Given the description of an element on the screen output the (x, y) to click on. 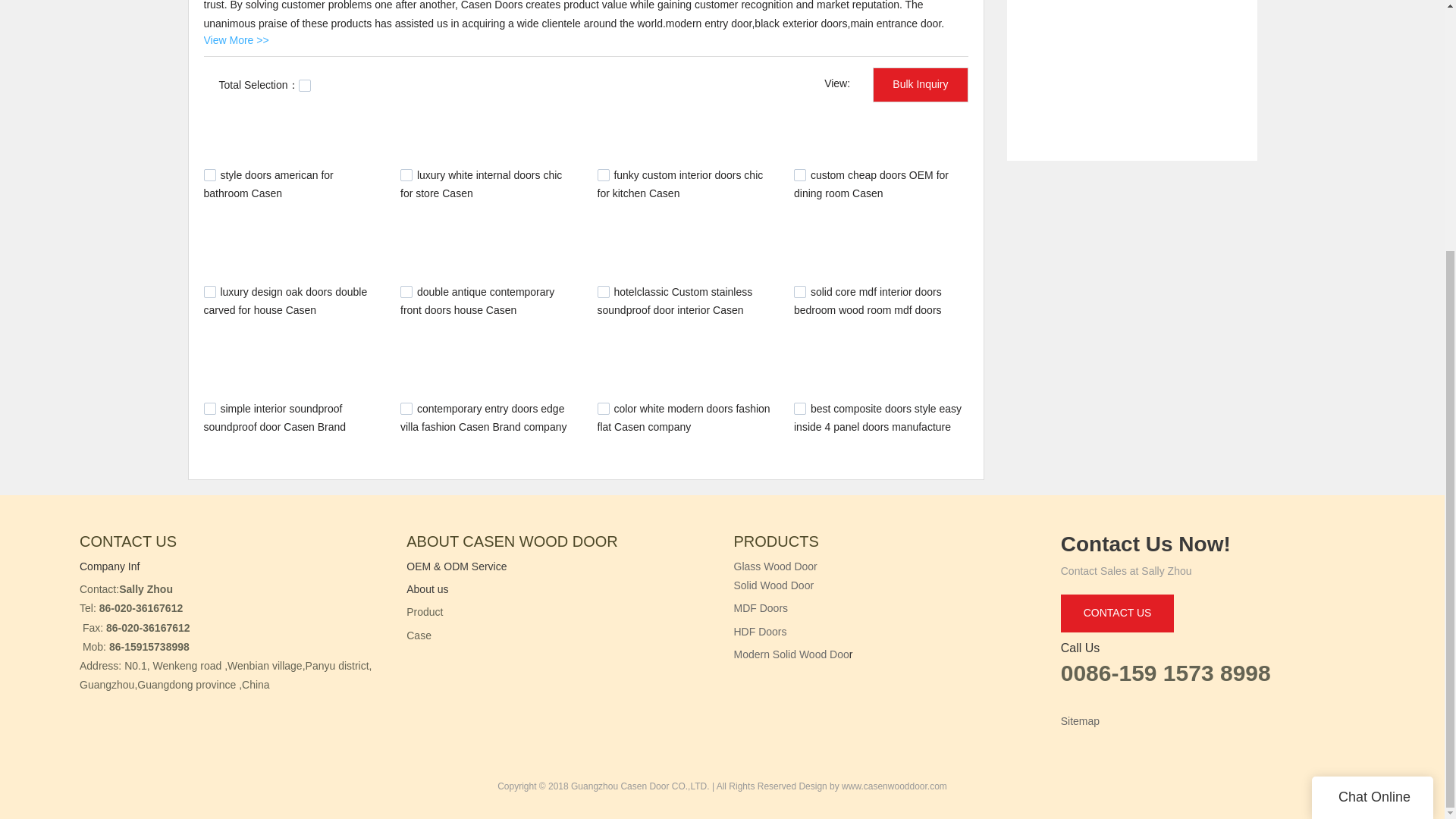
funky custom interior doors chic for kitchen Casen (679, 183)
custom cheap doors OEM for dining room Casen (871, 183)
funky custom interior doors chic for kitchen Casen (679, 183)
766 (209, 408)
luxury design oak doors double carved for house Casen (284, 300)
luxury white internal doors chic for store Casen (481, 183)
898 (603, 291)
double antique contemporary front doors house Casen (477, 300)
luxury white internal doors chic for store Casen (481, 183)
836 (799, 291)
1207 (603, 174)
1249 (209, 174)
color white modern doors fashion flat Casen company (683, 417)
